Given the description of an element on the screen output the (x, y) to click on. 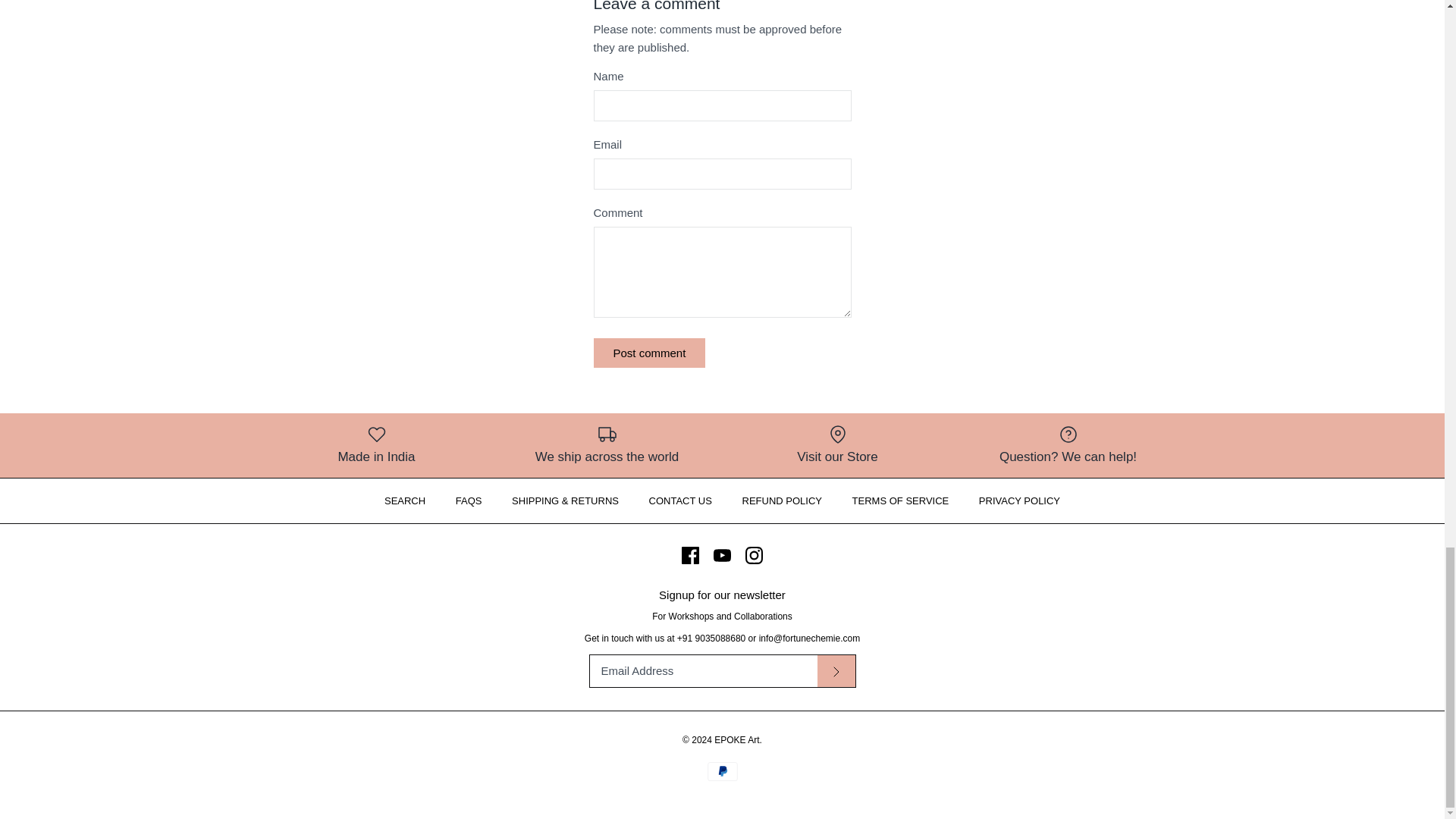
Youtube (721, 555)
Facebook (689, 555)
Facebook (689, 555)
Instagram (753, 555)
PayPal (721, 771)
Youtube (721, 555)
Instagram (753, 555)
Post comment (648, 352)
